Given the description of an element on the screen output the (x, y) to click on. 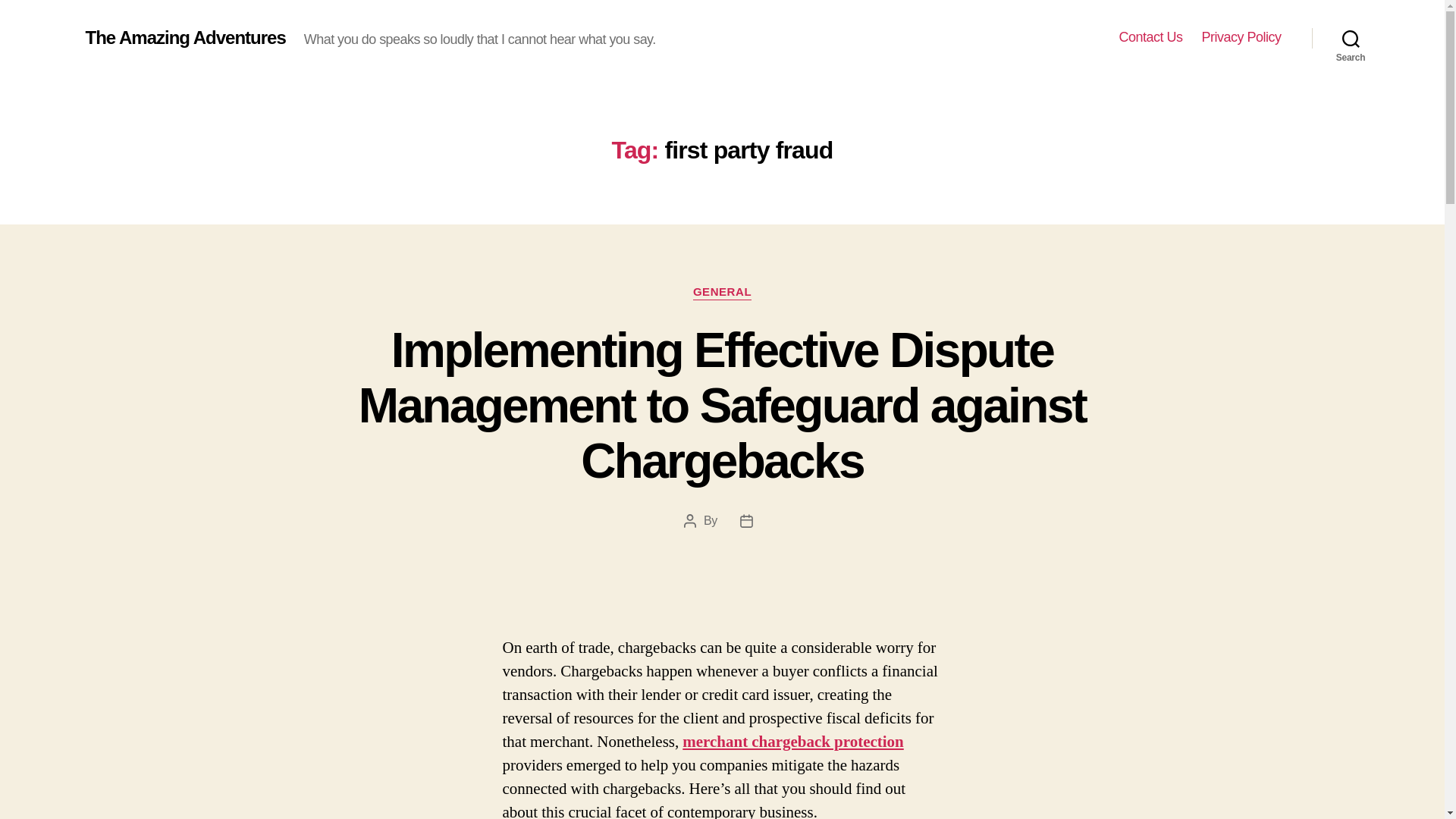
merchant chargeback protection (793, 742)
Contact Us (1150, 37)
The Amazing Adventures (184, 37)
Privacy Policy (1241, 37)
Search (1350, 37)
GENERAL (722, 292)
